Given the description of an element on the screen output the (x, y) to click on. 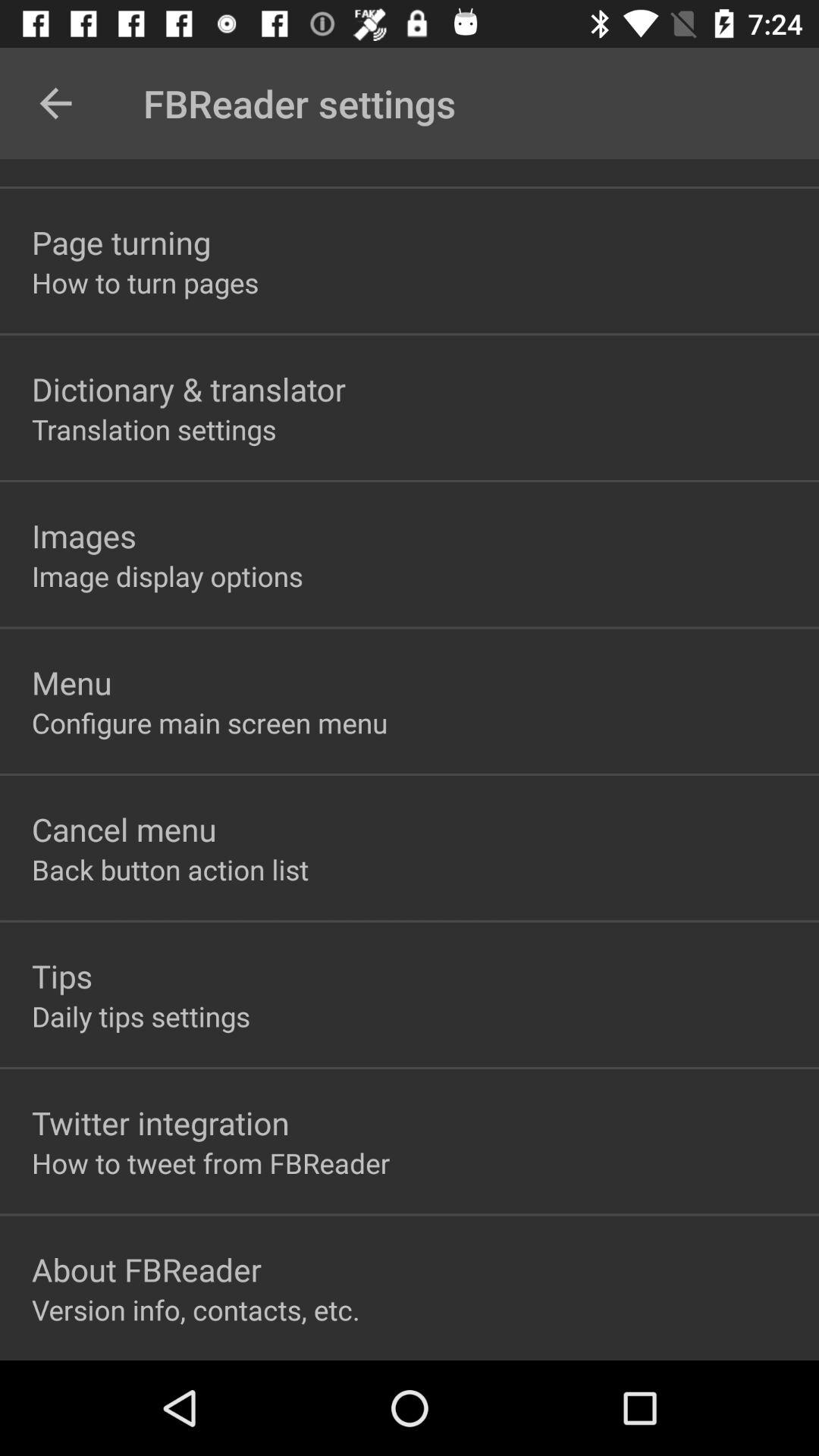
tap the item below images icon (167, 575)
